Given the description of an element on the screen output the (x, y) to click on. 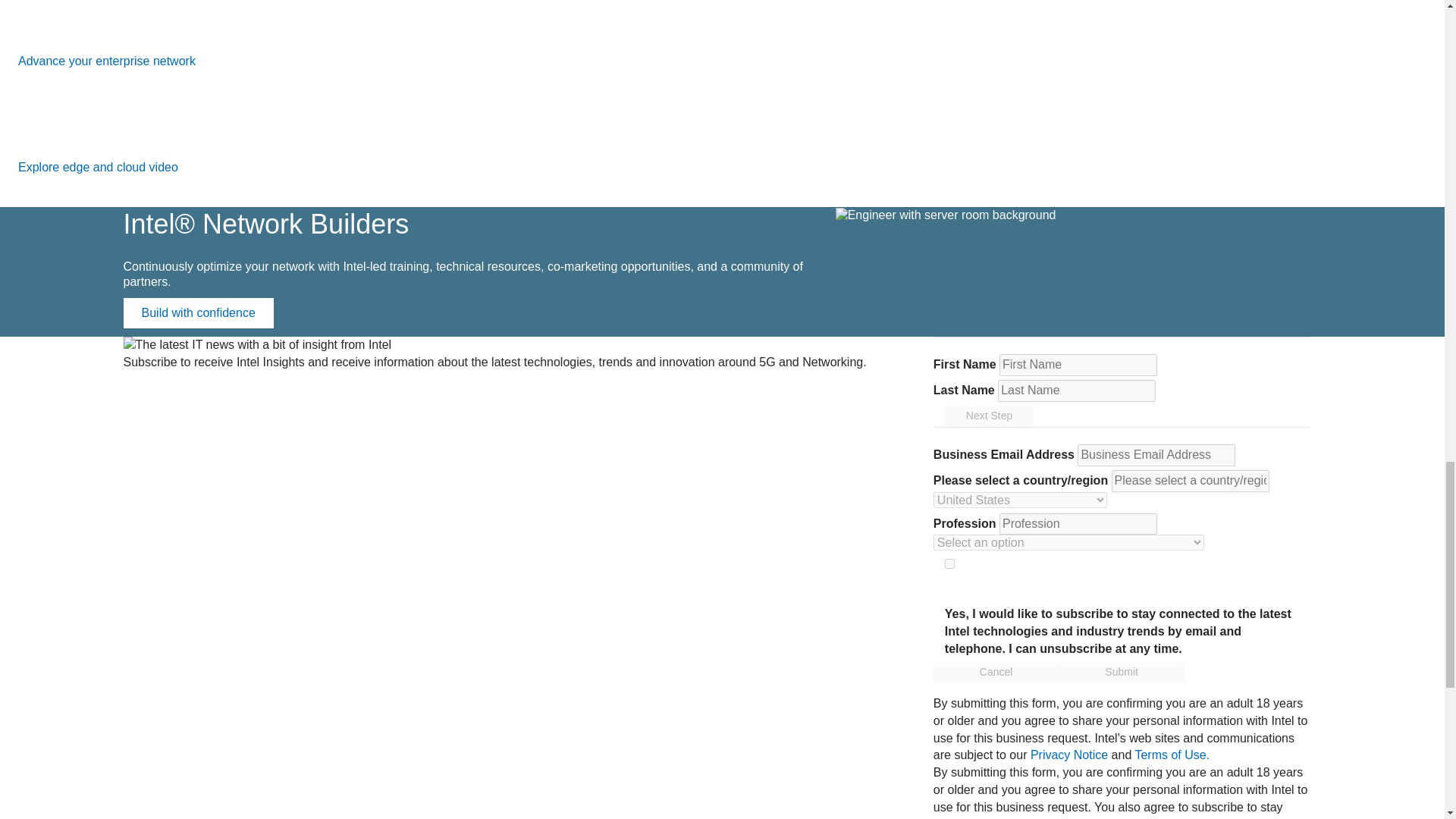
on (949, 563)
